Given the description of an element on the screen output the (x, y) to click on. 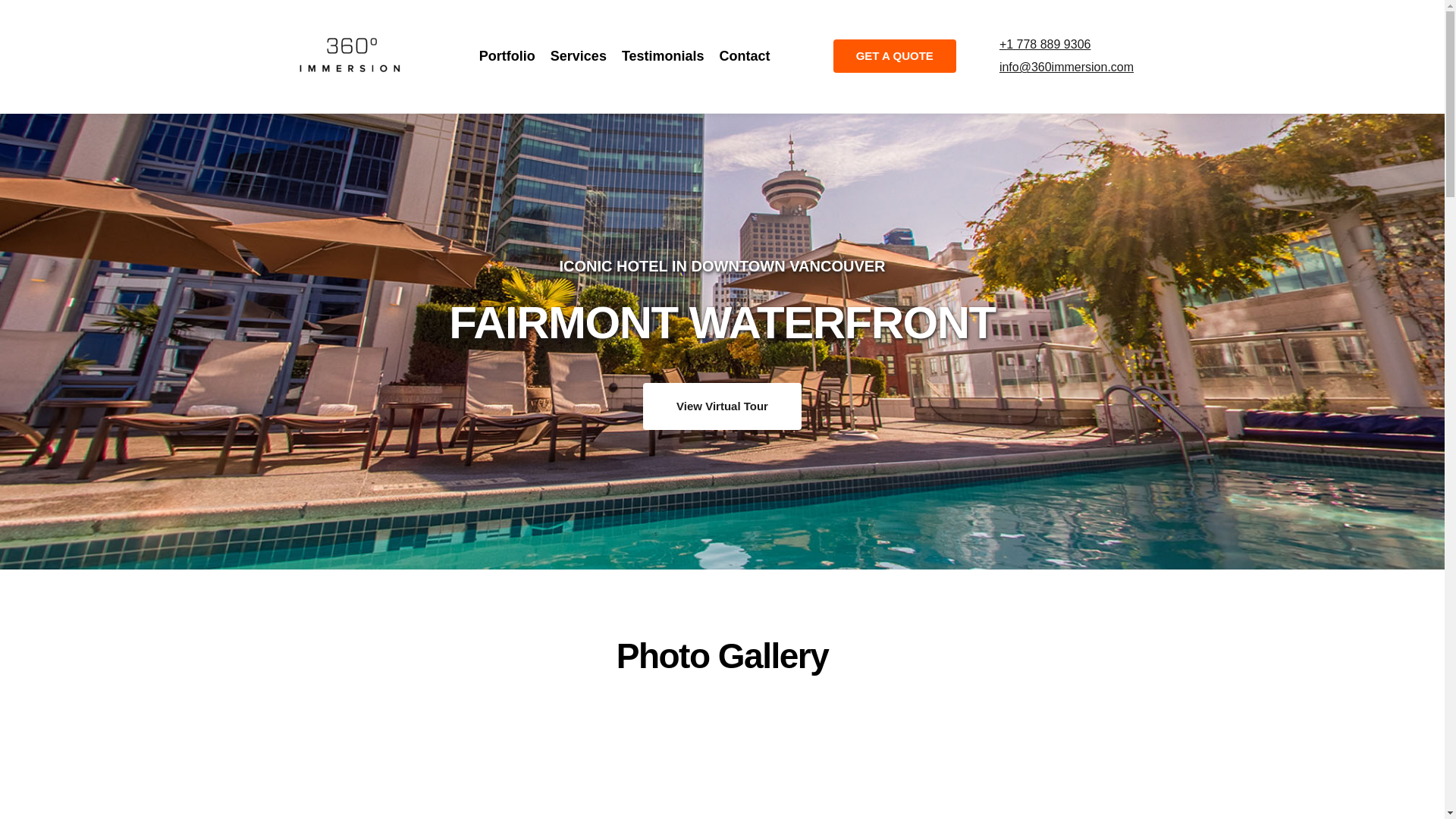
View Virtual Tour Element type: text (722, 405)
Services Element type: text (578, 56)
info@360immersion.com Element type: text (1066, 66)
Testimonials Element type: text (663, 56)
Contact Element type: text (744, 56)
+1 778 889 9306 Element type: text (1045, 43)
GET A QUOTE Element type: text (894, 55)
Portfolio Element type: text (507, 56)
